Given the description of an element on the screen output the (x, y) to click on. 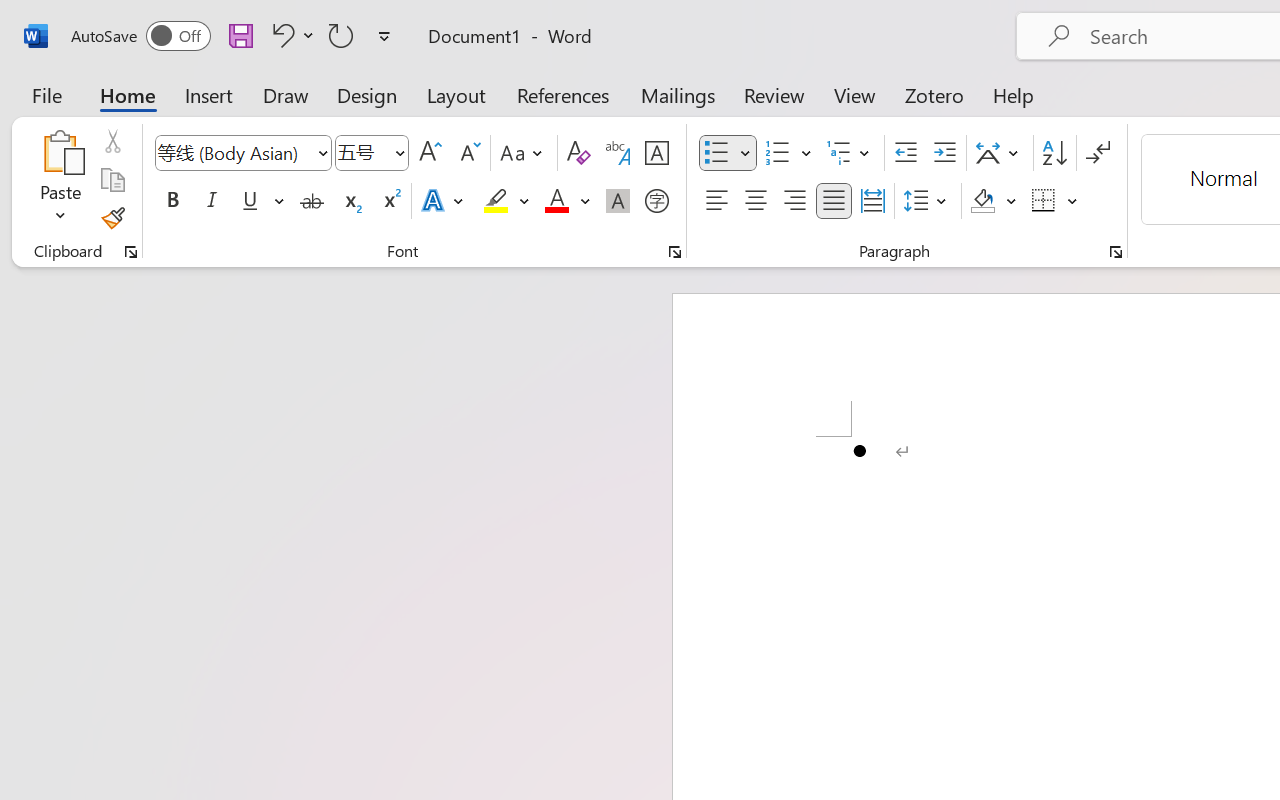
Undo Bullet Default (280, 35)
